Given the description of an element on the screen output the (x, y) to click on. 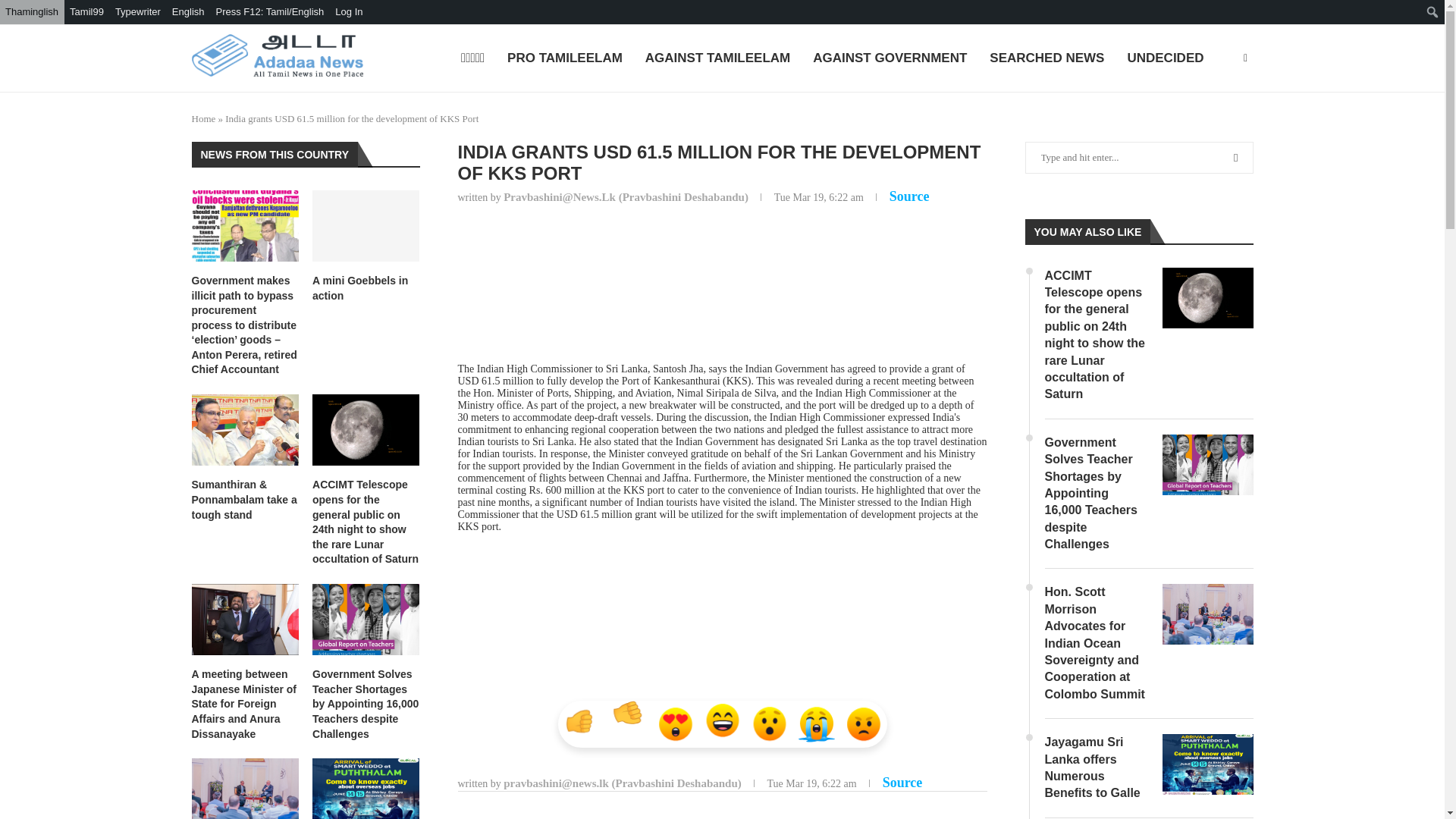
Tamil99 (87, 12)
Source (909, 196)
Search (114, 15)
Advertisement (722, 290)
Home (202, 118)
Log In (349, 12)
AGAINST GOVERNMENT (889, 58)
Source (902, 782)
UNDECIDED (1165, 58)
English (189, 12)
Click to select Thaminglish keyboard (32, 12)
Click to select Baamini keyboard (138, 12)
Typewriter (138, 12)
Read original story (909, 196)
Click to select English keyboard (189, 12)
